Given the description of an element on the screen output the (x, y) to click on. 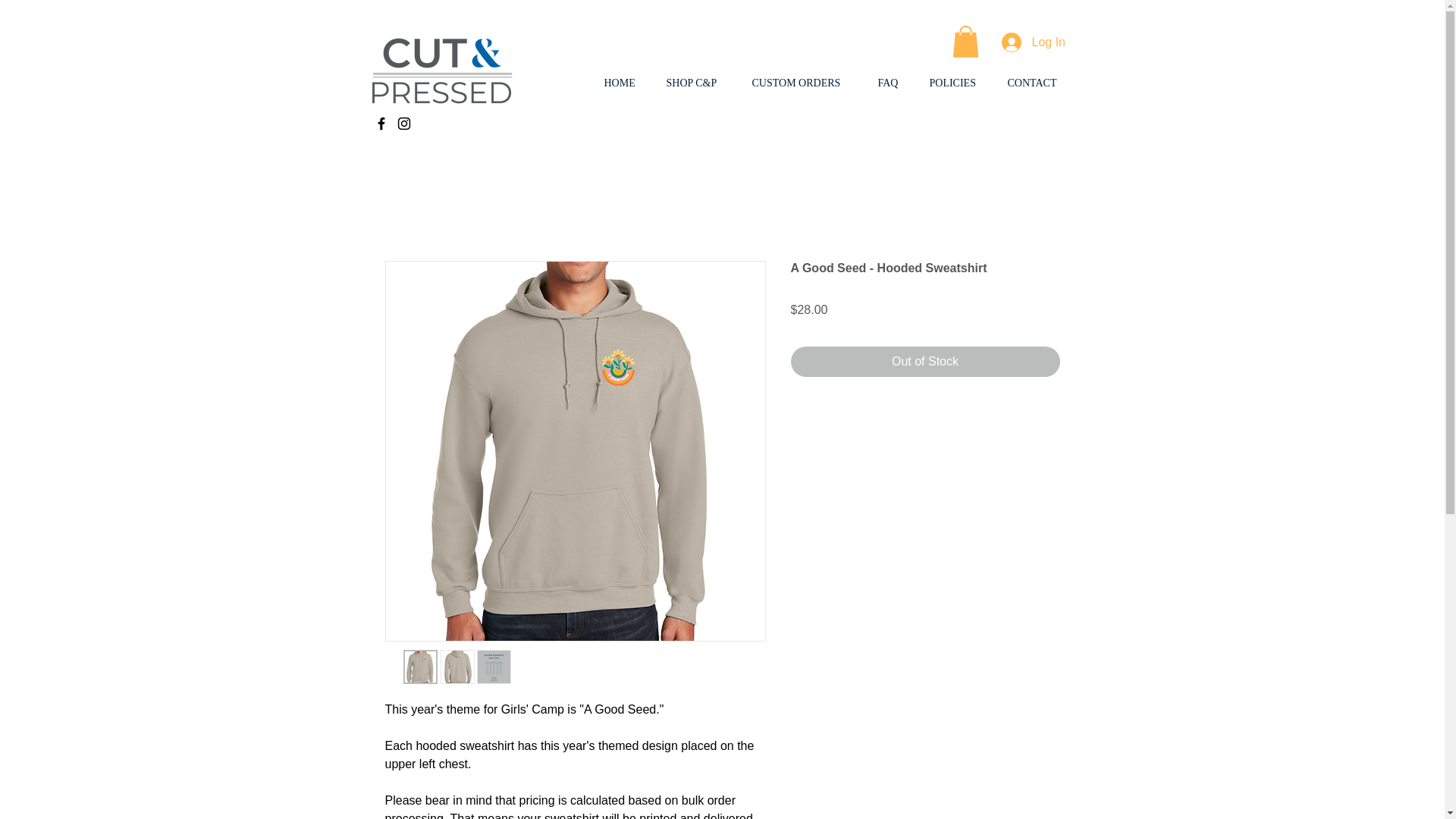
HOME (623, 83)
CUSTOM ORDERS (802, 83)
POLICIES (956, 83)
CONTACT (1035, 83)
FAQ (891, 83)
Out of Stock (924, 361)
Log In (1026, 41)
